Given the description of an element on the screen output the (x, y) to click on. 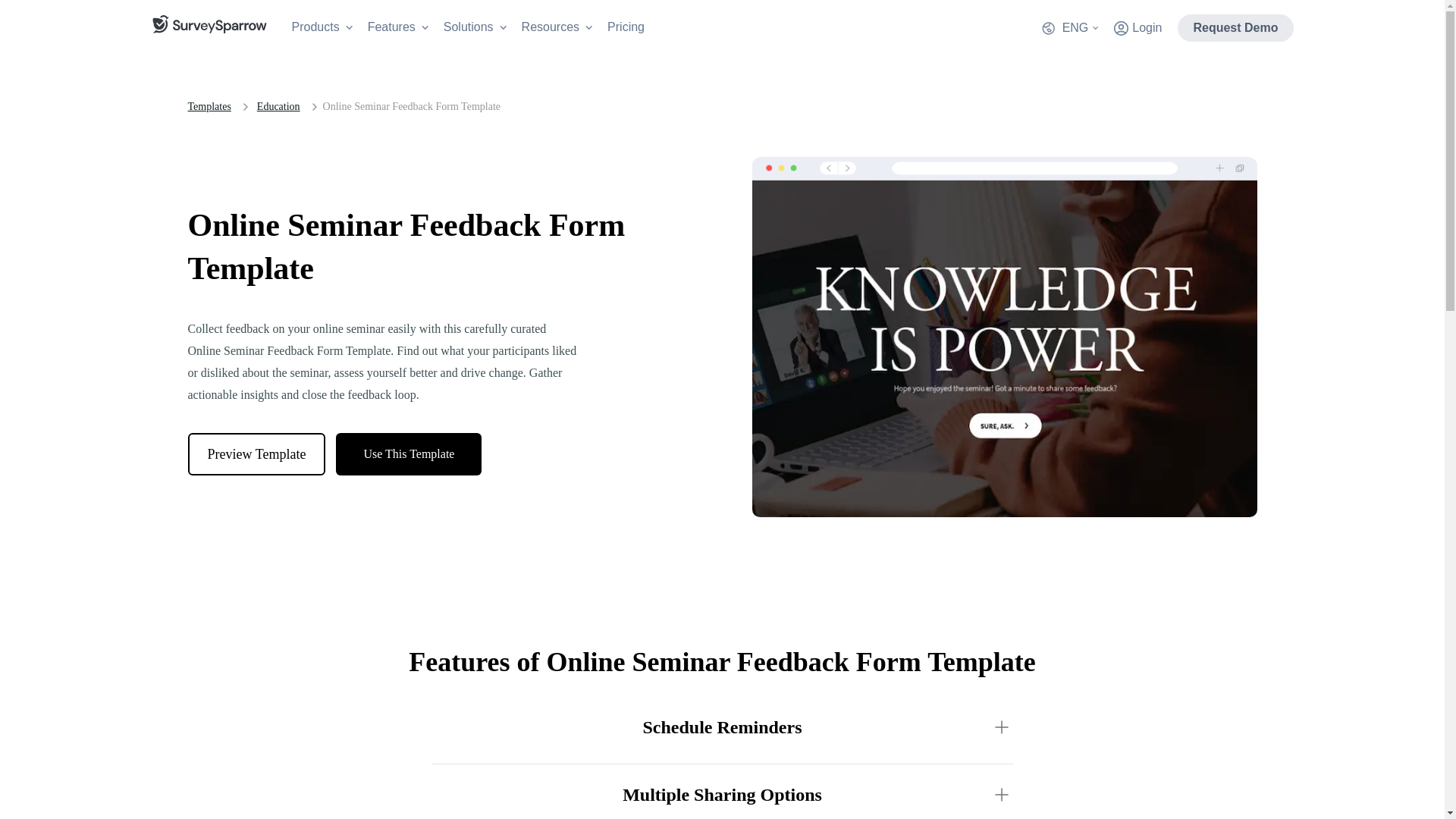
Preview Template (256, 454)
Login (1137, 27)
ENG (1070, 27)
Education (278, 106)
Use This Template (408, 454)
Request Demo (1234, 27)
Products (321, 27)
Features (398, 27)
Solutions (475, 27)
Resources (556, 27)
